Given the description of an element on the screen output the (x, y) to click on. 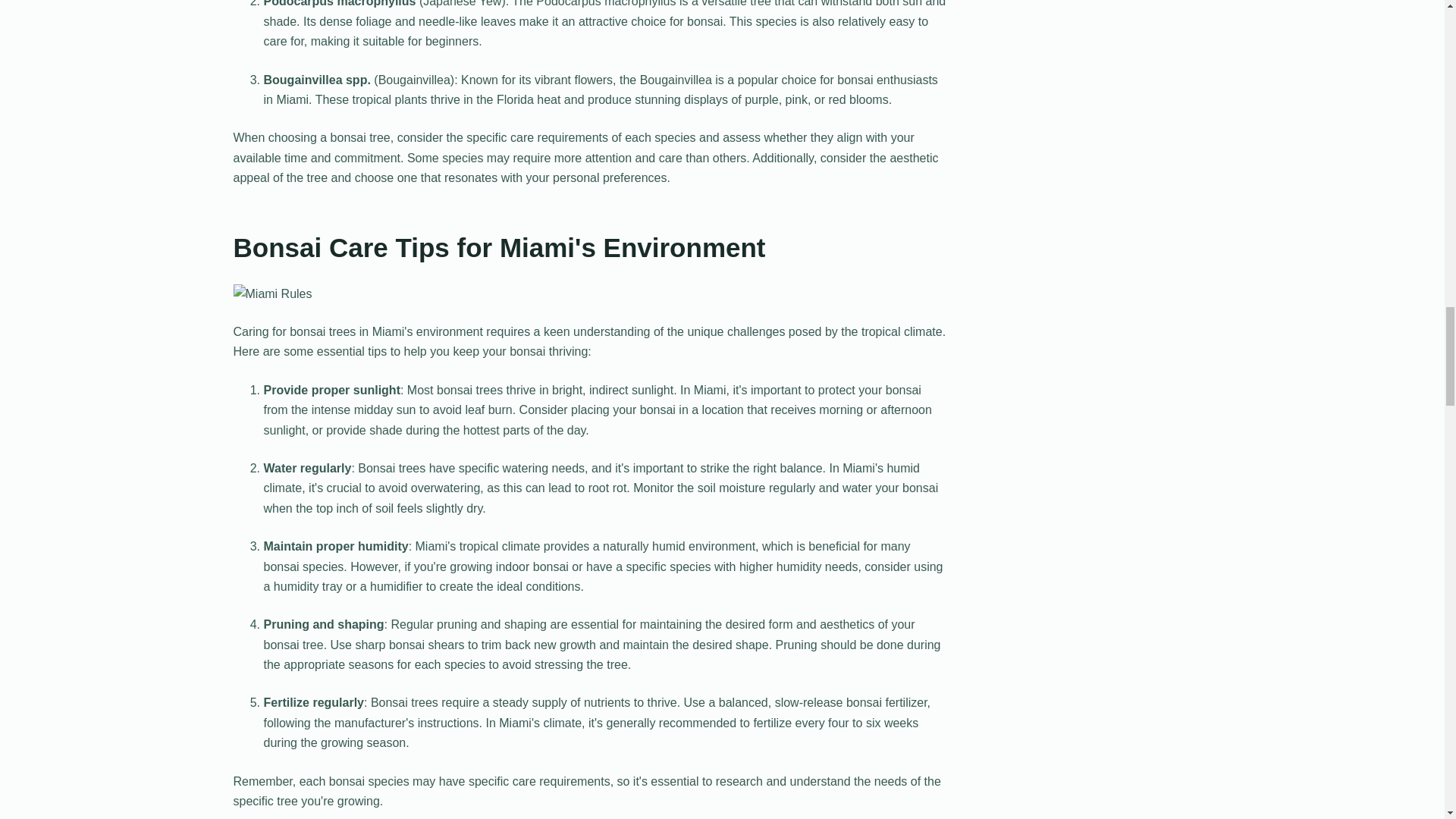
bonsai miami florida (272, 293)
